Given the description of an element on the screen output the (x, y) to click on. 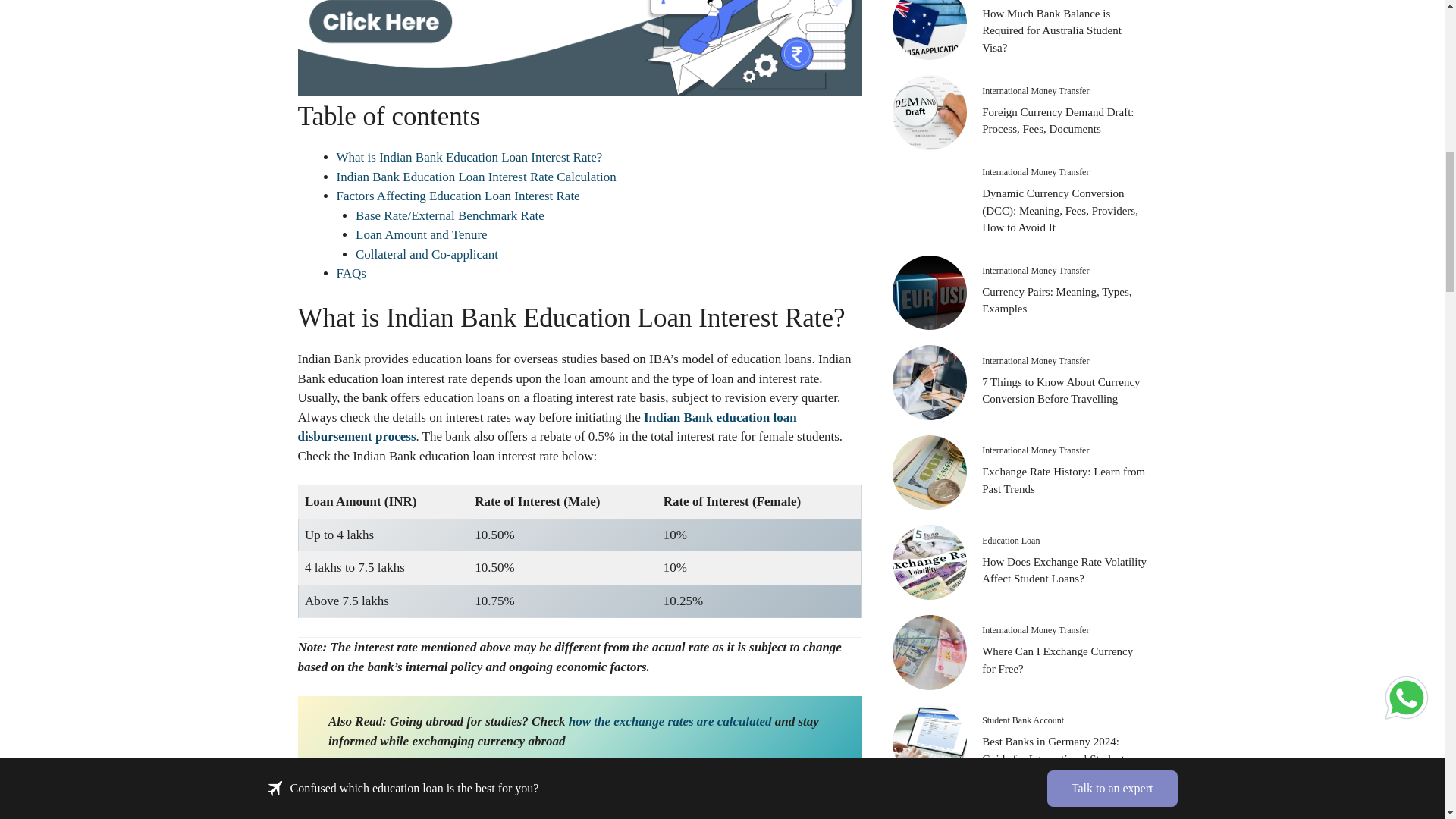
Indian Bank education loan disbursement process (546, 427)
FAQs (351, 273)
Collateral and Co-applicant (426, 254)
What is Indian Bank Education Loan Interest Rate? (469, 156)
Factors Affecting Education Loan Interest Rate (457, 196)
Indian Bank Education Loan Interest Rate Calculation (475, 176)
how the exchange rates are calculated (671, 721)
Loan Amount and Tenure (421, 234)
